Given the description of an element on the screen output the (x, y) to click on. 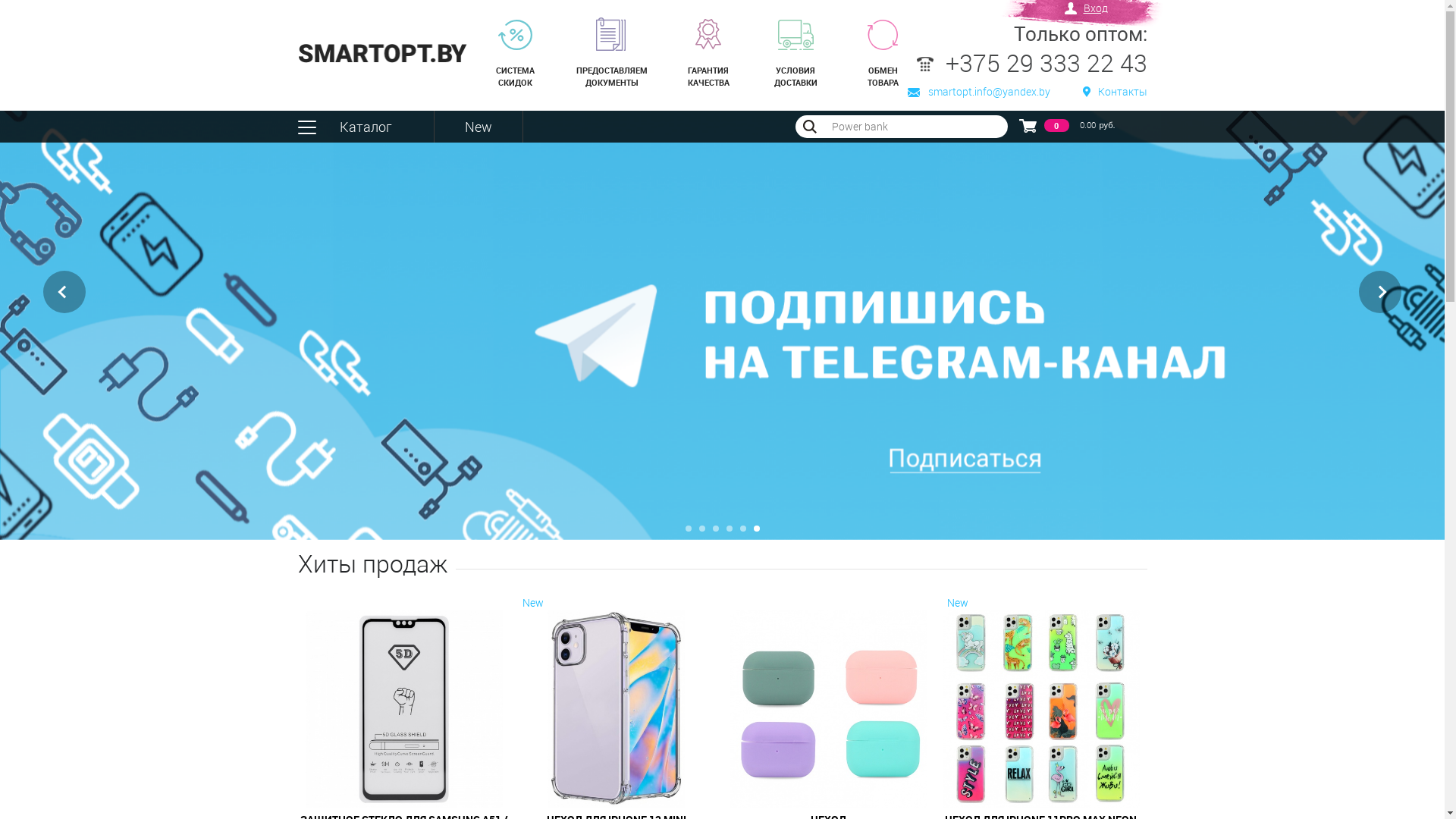
smartopt.info@yandex.by Element type: text (977, 91)
New Element type: text (477, 126)
2 Element type: text (702, 528)
5 Element type: text (743, 528)
Previous Element type: text (64, 291)
Next Element type: text (1379, 291)
4 Element type: text (729, 528)
3 Element type: text (715, 528)
6 Element type: text (756, 528)
1 Element type: text (688, 528)
